Given the description of an element on the screen output the (x, y) to click on. 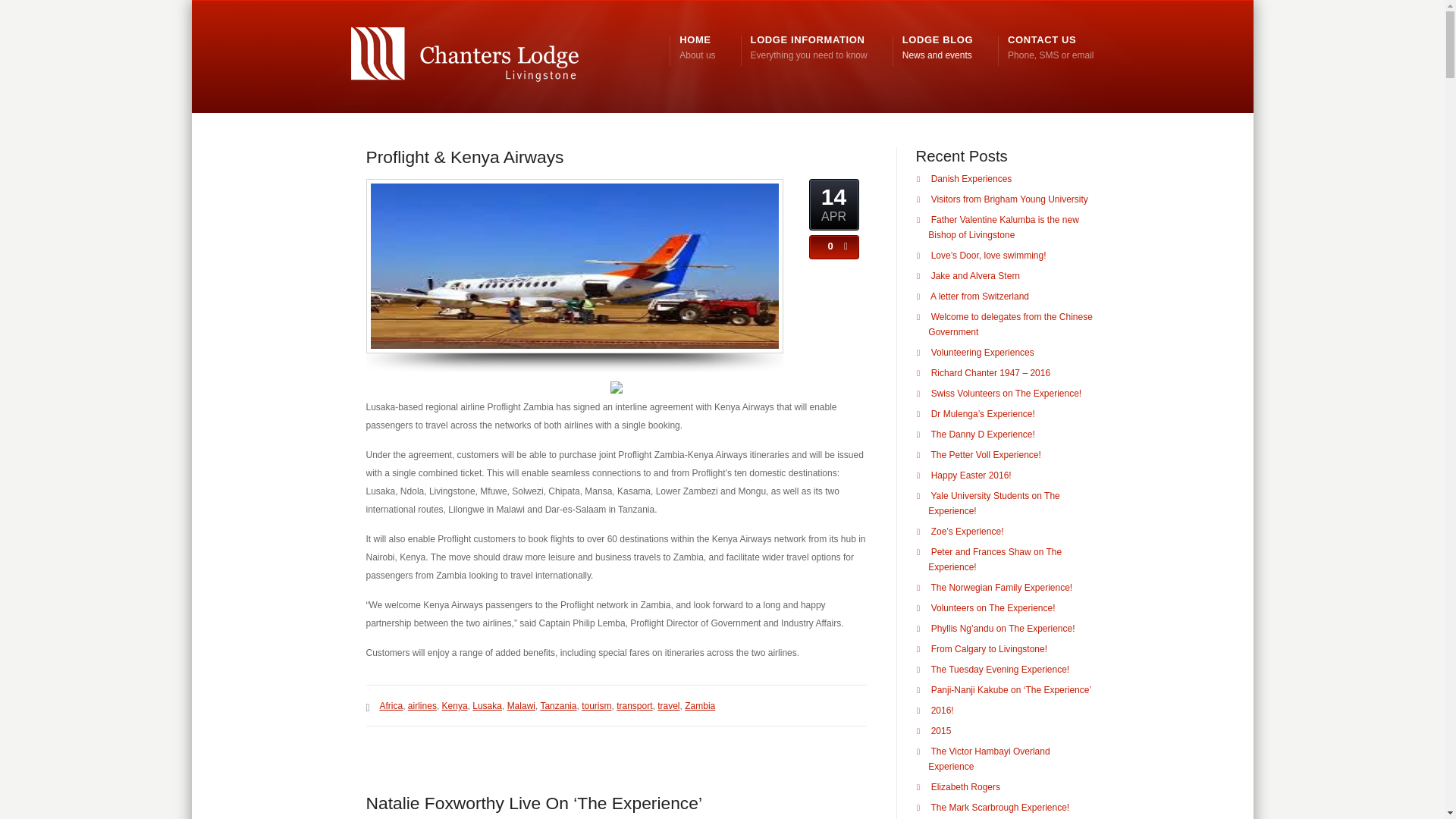
travel (1050, 47)
Malawi (668, 706)
Zambia (937, 47)
airlines (520, 706)
transport (699, 706)
Tanzania (696, 47)
Africa (421, 706)
Lusaka (633, 706)
Kenya (558, 706)
tourism (390, 706)
0 (486, 706)
